Given the description of an element on the screen output the (x, y) to click on. 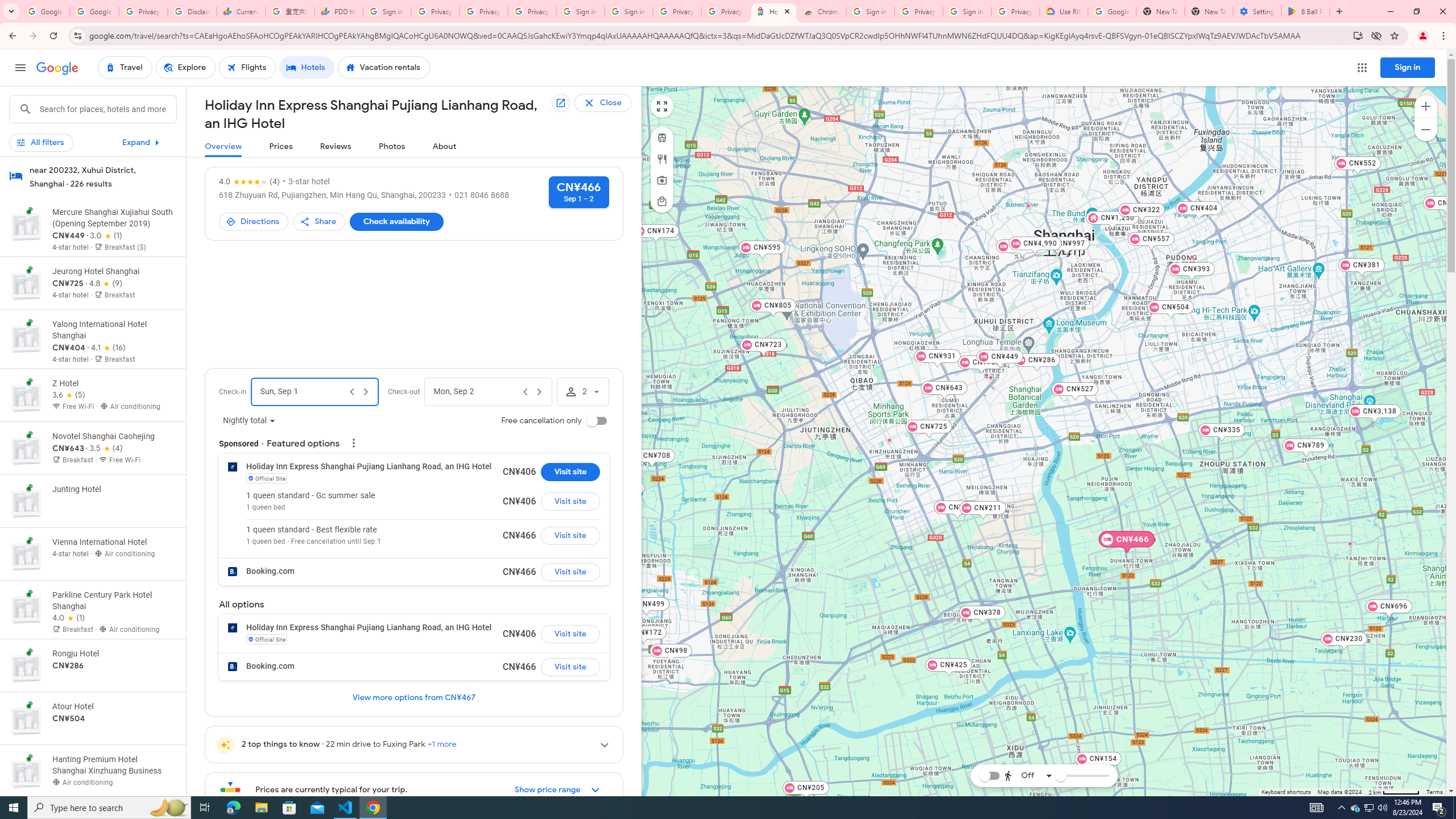
4.8 out of 5 stars from 9 reviews (105, 283)
8 Ball Pool - Apps on Google Play (1305, 11)
View prices for Yalong International Hotel Shanghai (113, 382)
Sign in - Google Accounts (966, 11)
Search for places, hotels and more (107, 108)
View prices for Rongju Hotel (113, 705)
Flights (247, 67)
Hanting Premium Hotel Shanghai Xinzhuang Business (888, 439)
